Given the description of an element on the screen output the (x, y) to click on. 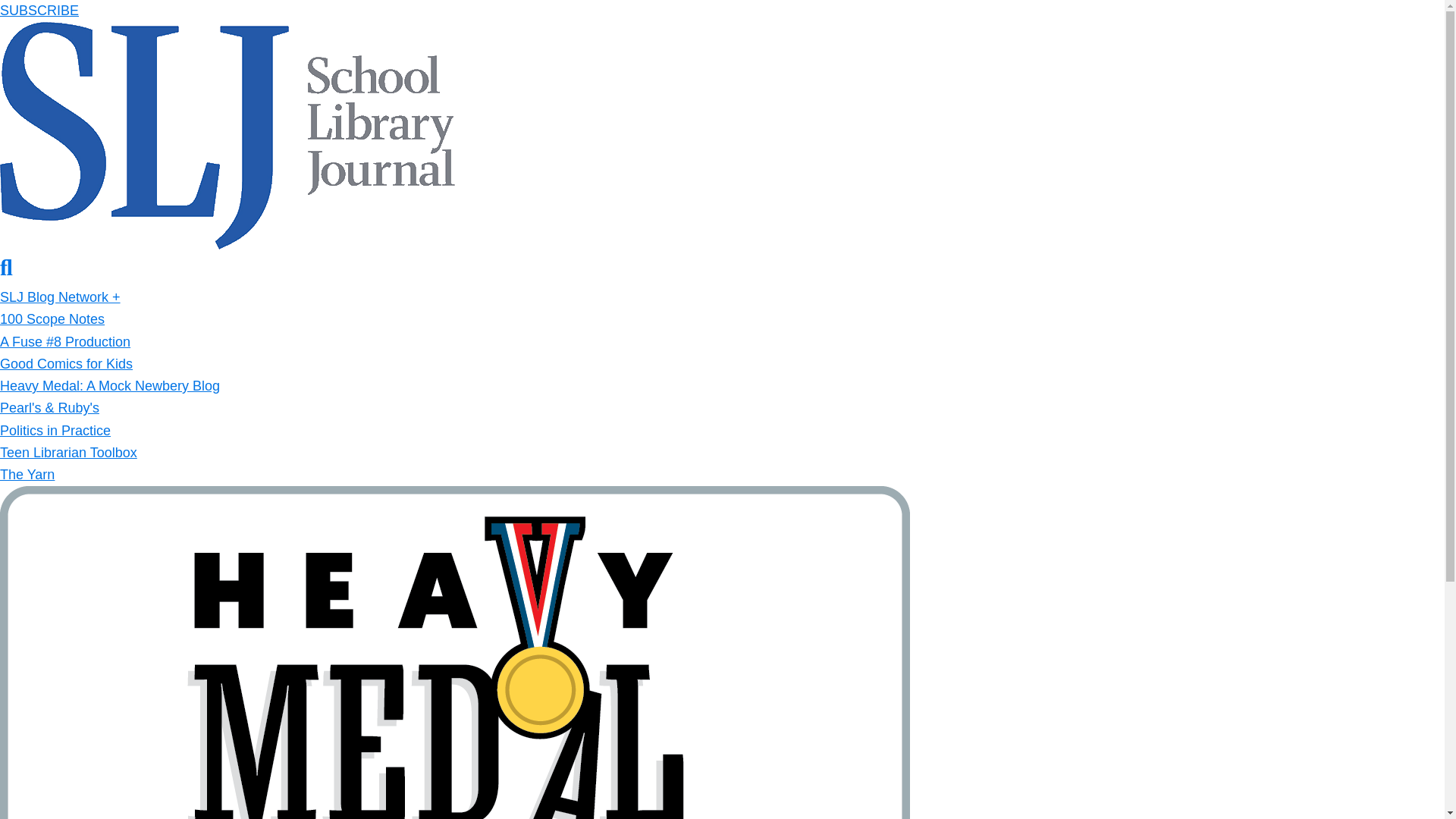
SUBSCRIBE (39, 10)
Politics in Practice (55, 430)
Teen Librarian Toolbox (68, 452)
Good Comics for Kids (66, 363)
100 Scope Notes (52, 319)
Heavy Medal: A Mock Newbery Blog (109, 385)
The Yarn (27, 474)
